Given the description of an element on the screen output the (x, y) to click on. 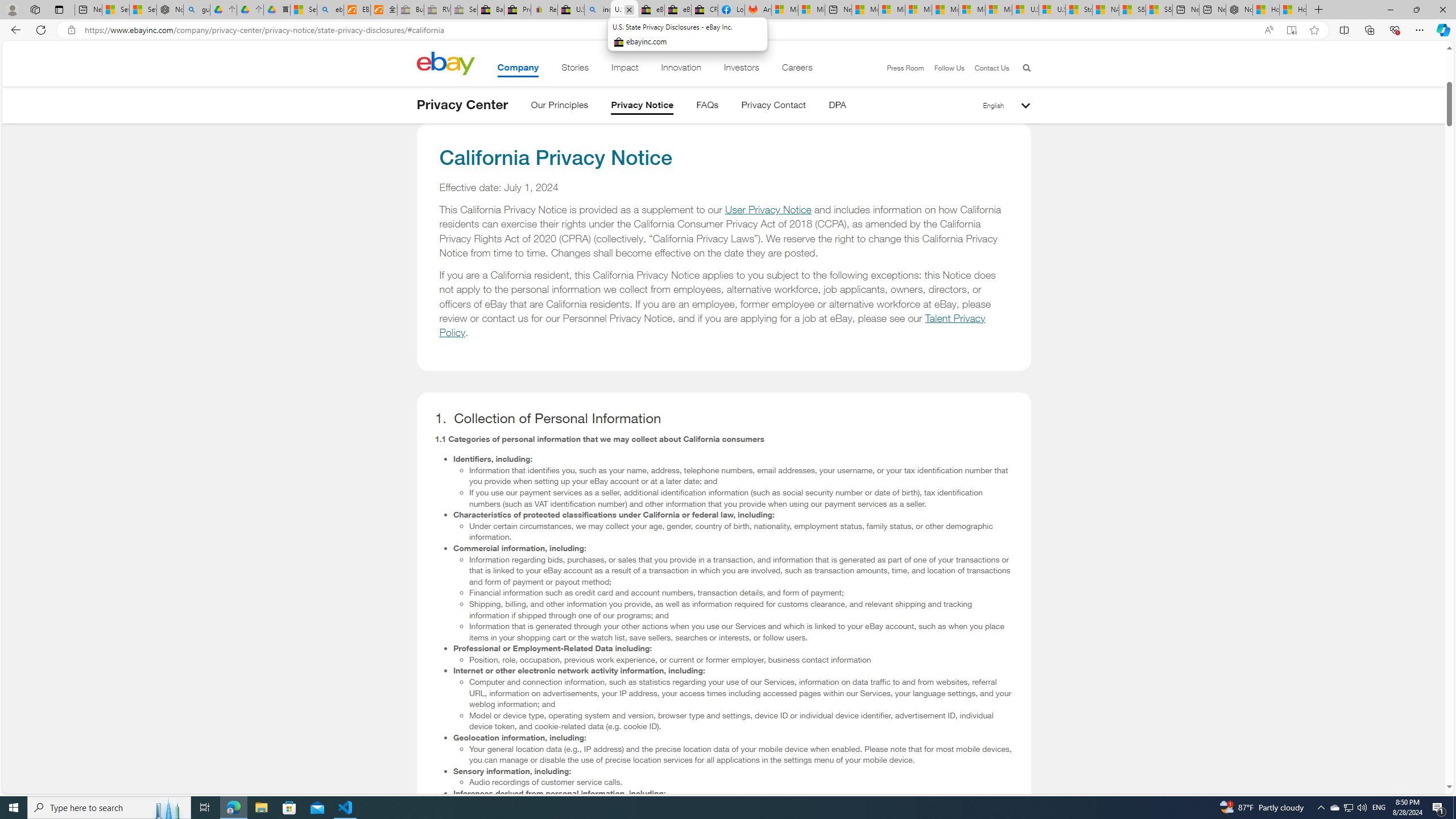
Press Room - eBay Inc. (517, 9)
Our Principles (558, 107)
User Privacy Notice (767, 209)
